Given the description of an element on the screen output the (x, y) to click on. 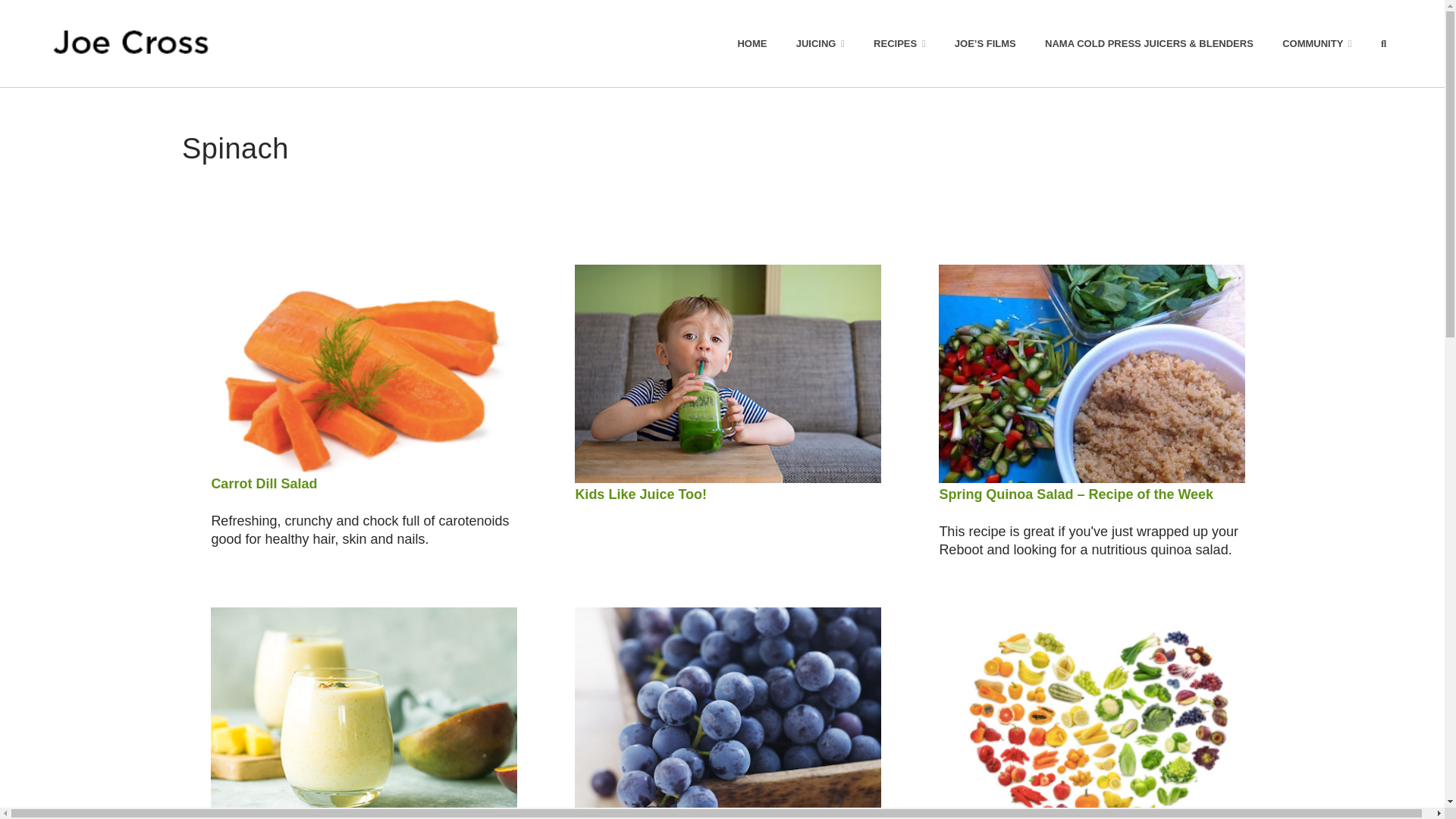
COMMUNITY (1317, 43)
RECIPES (899, 43)
Carrot Dill Salad (264, 483)
Joe Cross (131, 43)
